Given the description of an element on the screen output the (x, y) to click on. 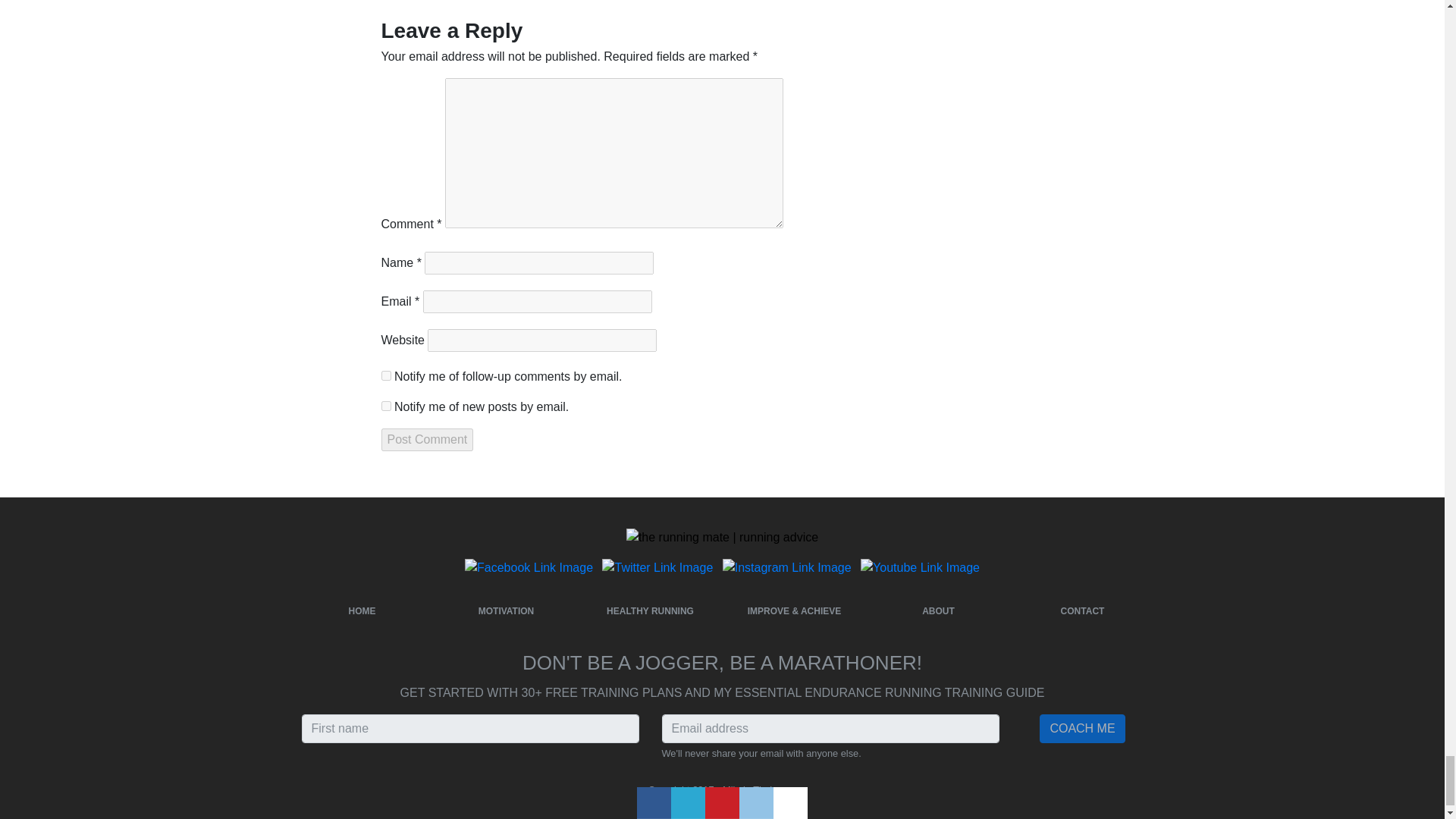
subscribe (385, 406)
COACH ME (1081, 728)
Post Comment (426, 439)
Post Comment (426, 439)
subscribe (385, 375)
